Given the description of an element on the screen output the (x, y) to click on. 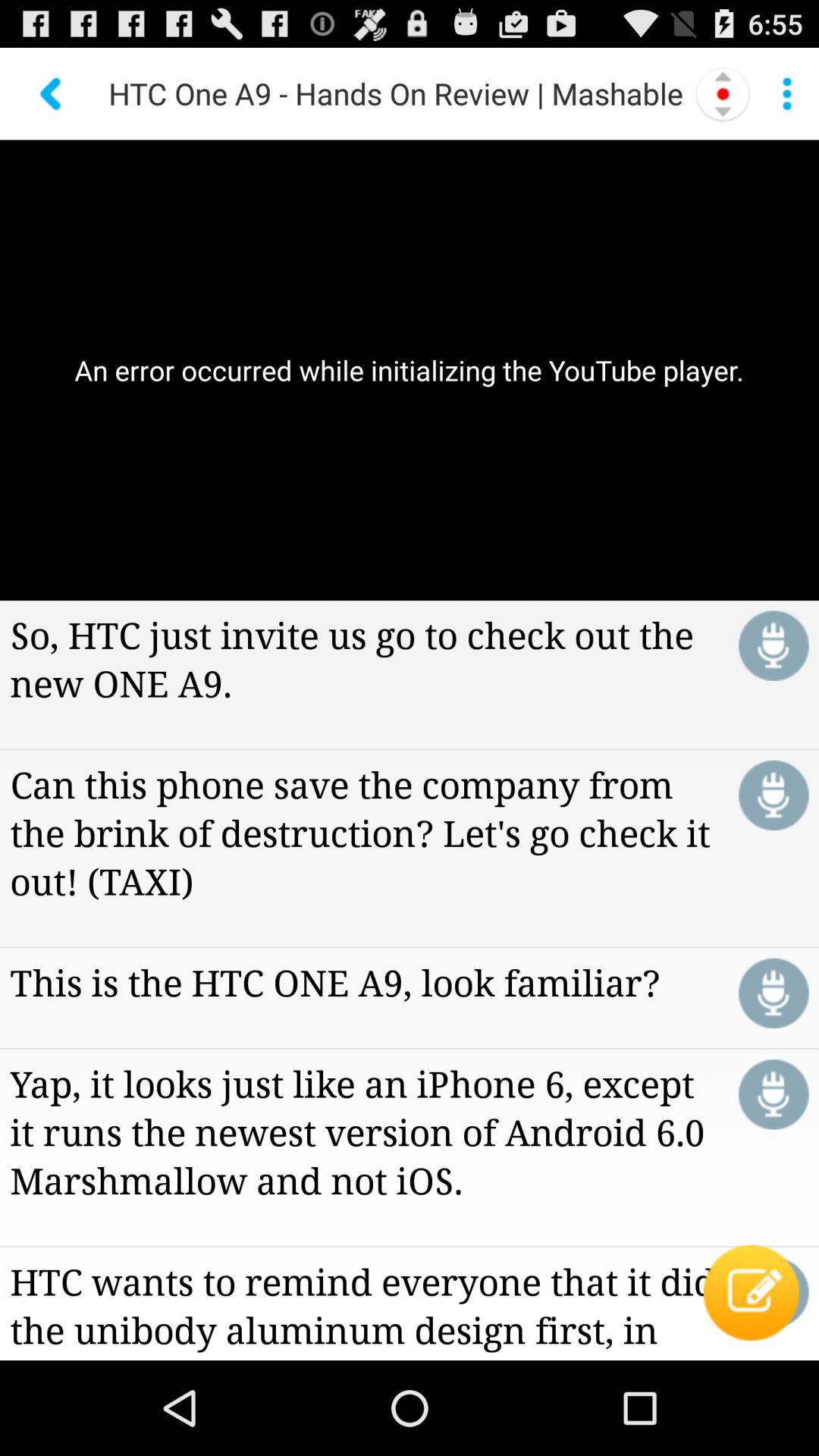
choose item next to htc one a9 icon (723, 93)
